Given the description of an element on the screen output the (x, y) to click on. 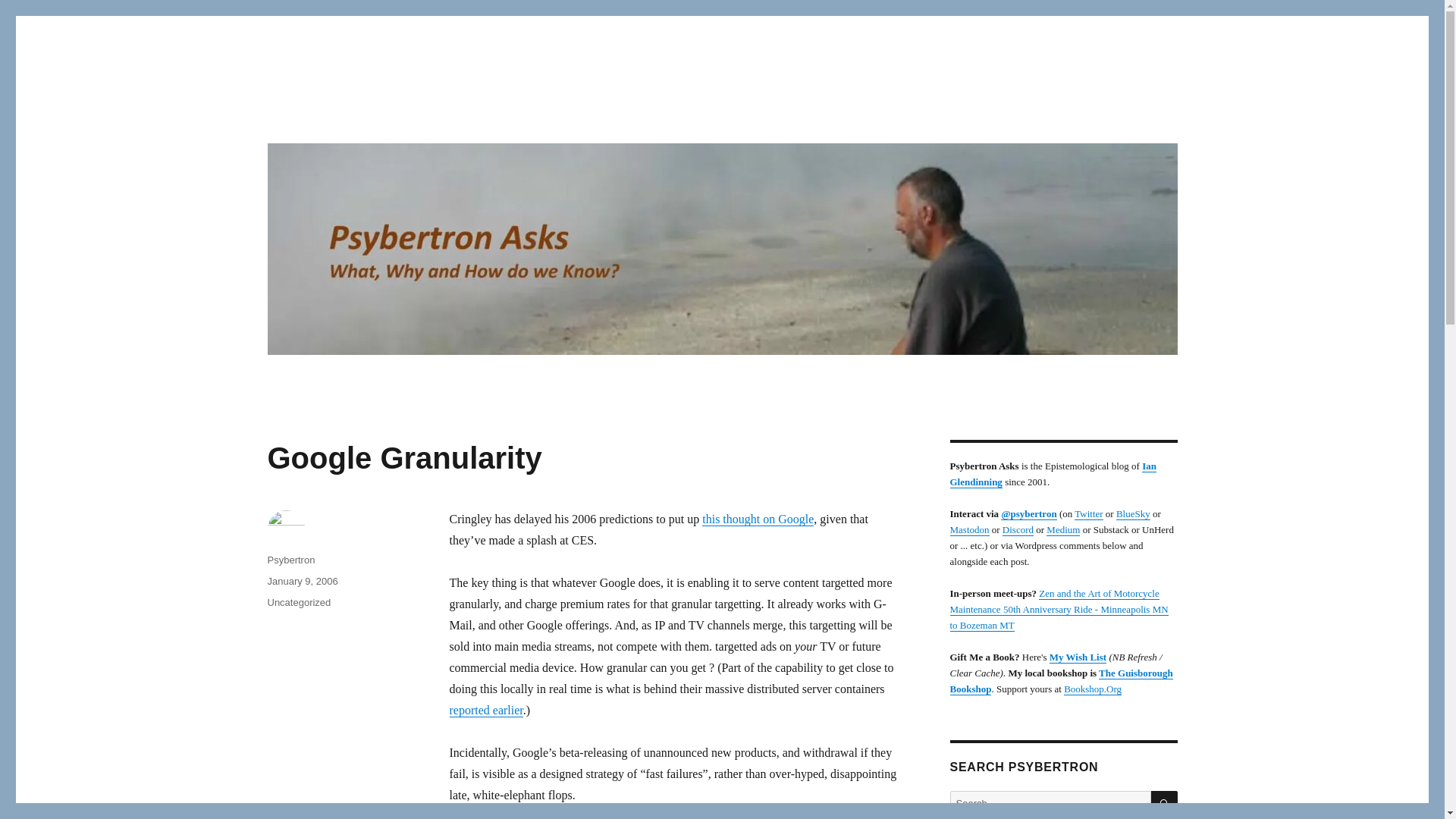
Medium (1063, 529)
My Wish List (1077, 656)
Mastodon (968, 529)
Psybertron Asks (350, 114)
Discord (1018, 529)
reported earlier (485, 709)
this thought on Google (757, 518)
Twitter (1088, 513)
BlueSky (1133, 513)
The Guisborough Bookshop (1060, 680)
January 9, 2006 (301, 581)
Bookshop.Org (1092, 688)
Uncategorized (298, 602)
Psybertron (290, 559)
